Given the description of an element on the screen output the (x, y) to click on. 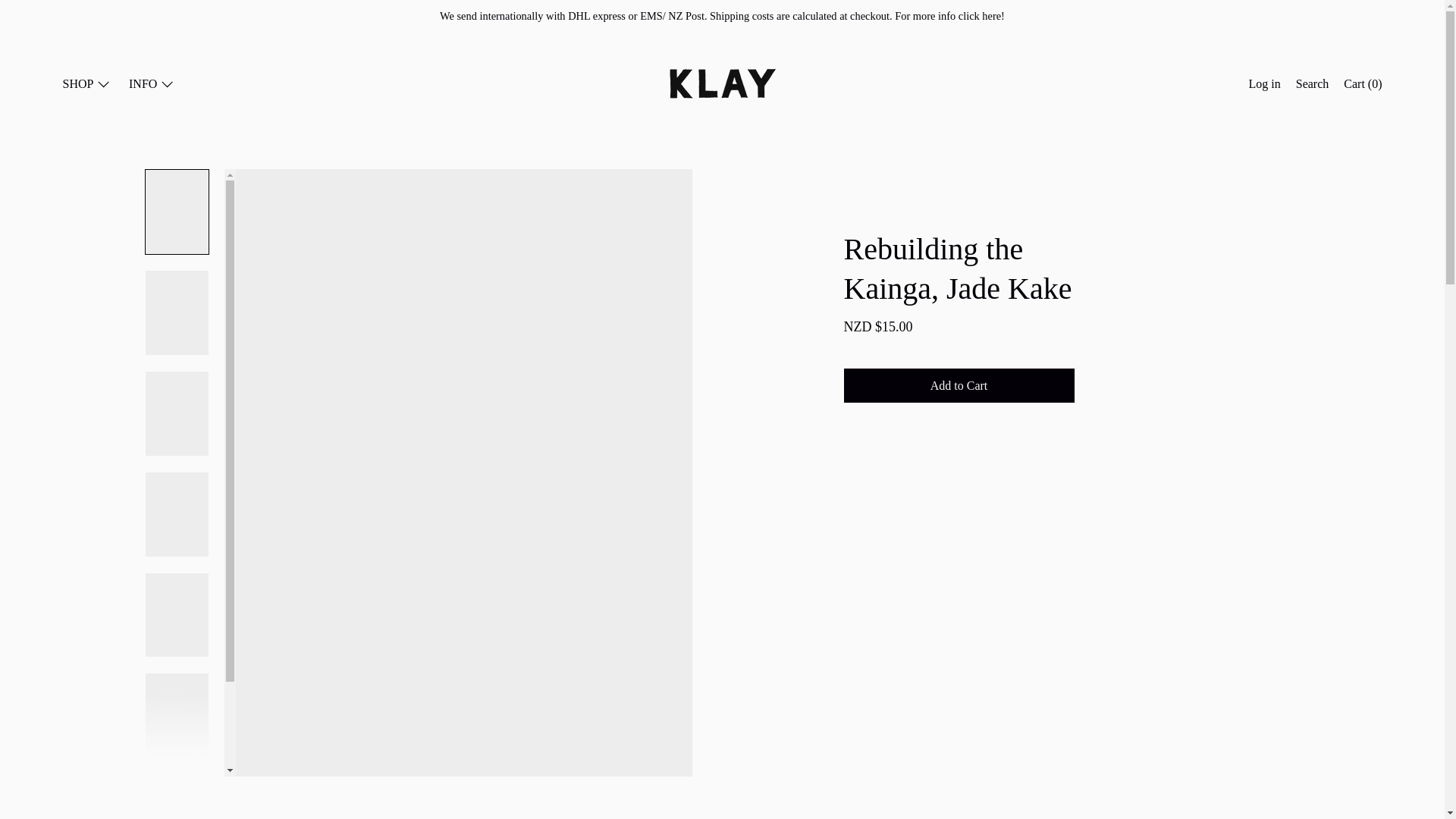
Search (1312, 85)
SHOP (86, 85)
INFO (151, 85)
Log in (1264, 85)
